Given the description of an element on the screen output the (x, y) to click on. 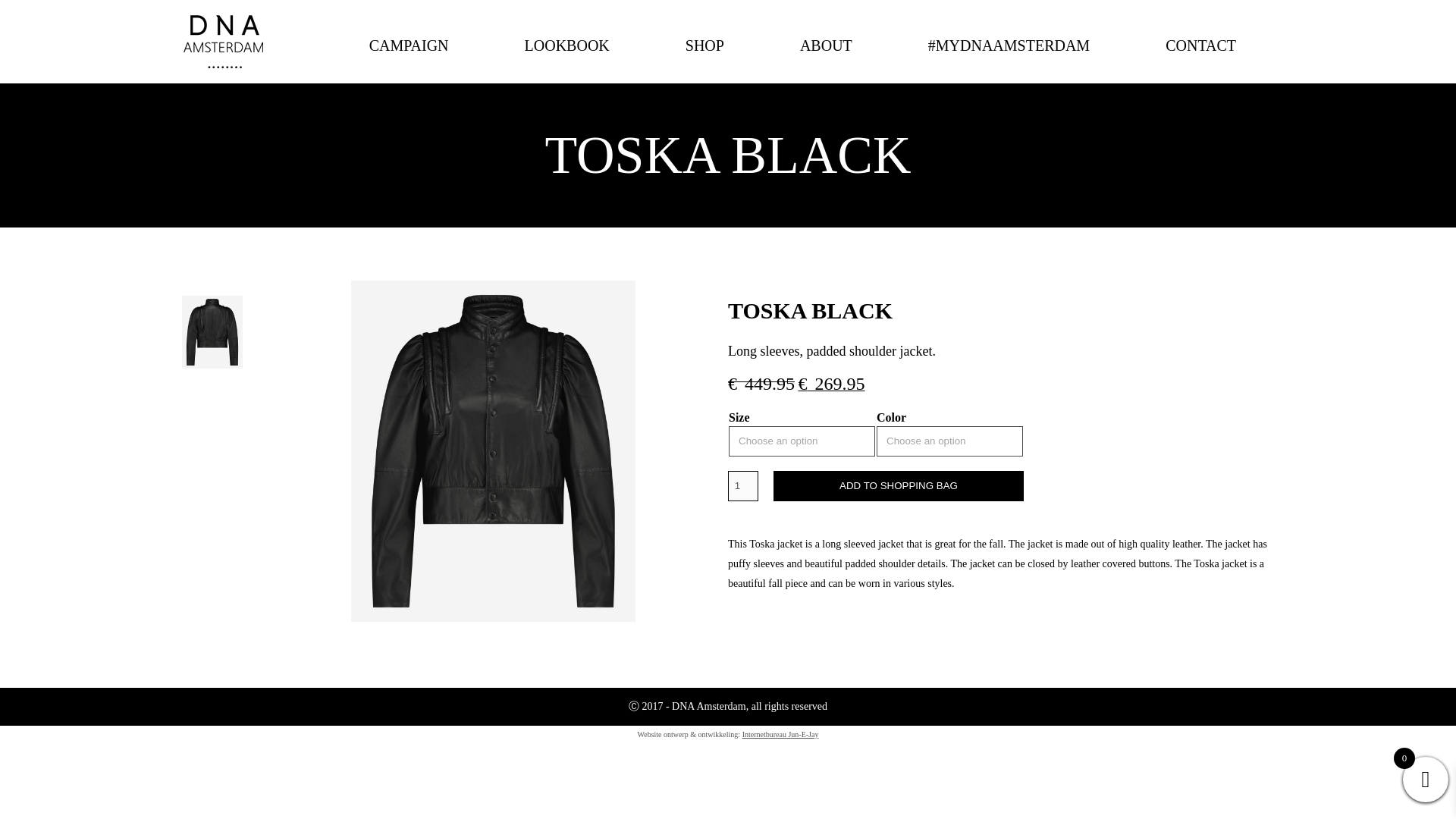
ADD TO SHOPPING BAG (898, 485)
CONTACT (1201, 60)
Internetbureau Jun-E-Jay (780, 734)
CAMPAIGN (408, 60)
1 (743, 485)
ABOUT (825, 60)
LOOKBOOK (567, 60)
DNA Amsterdam x Suite 22 (223, 41)
